Given the description of an element on the screen output the (x, y) to click on. 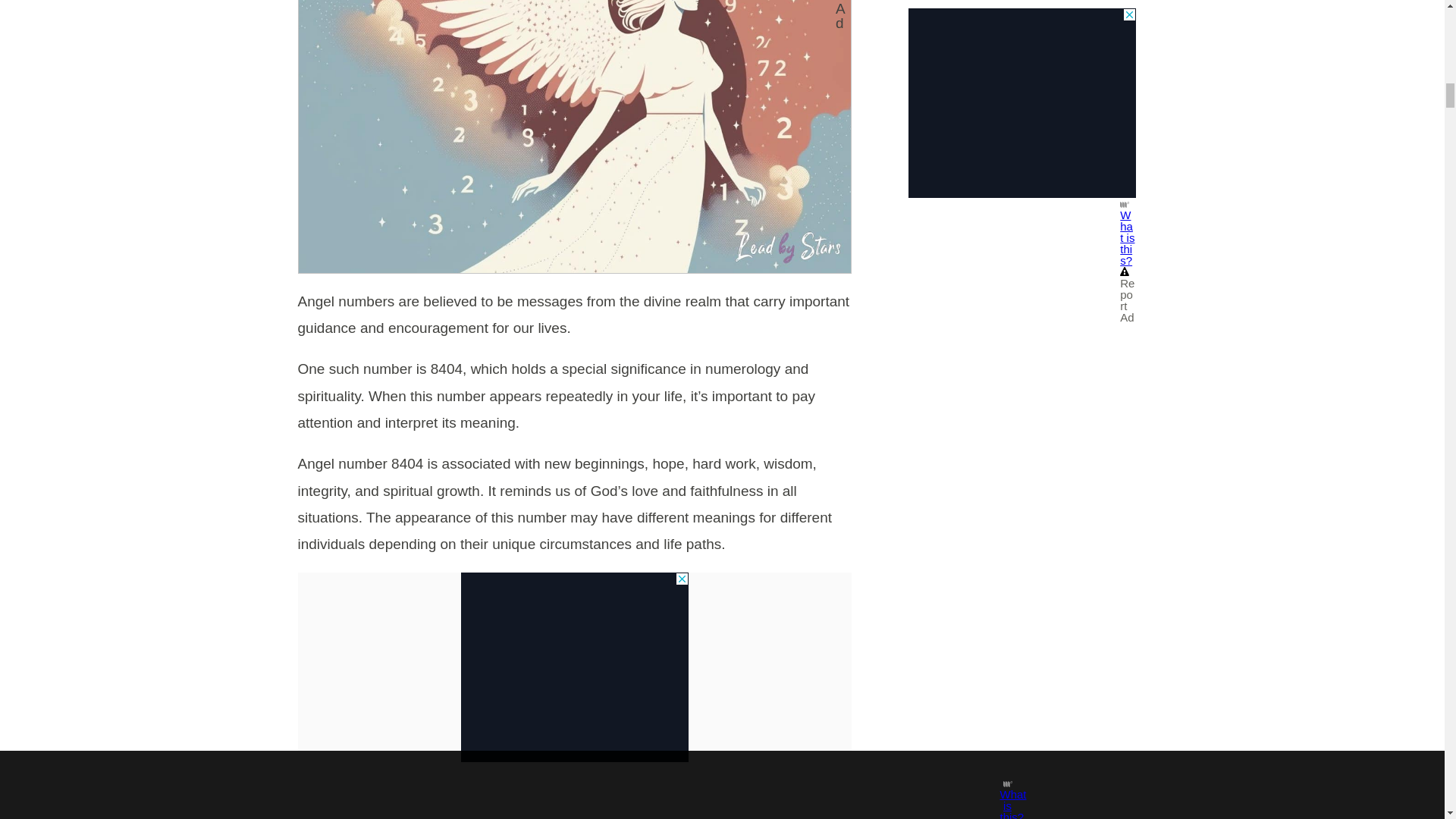
3rd party ad content (574, 667)
